Given the description of an element on the screen output the (x, y) to click on. 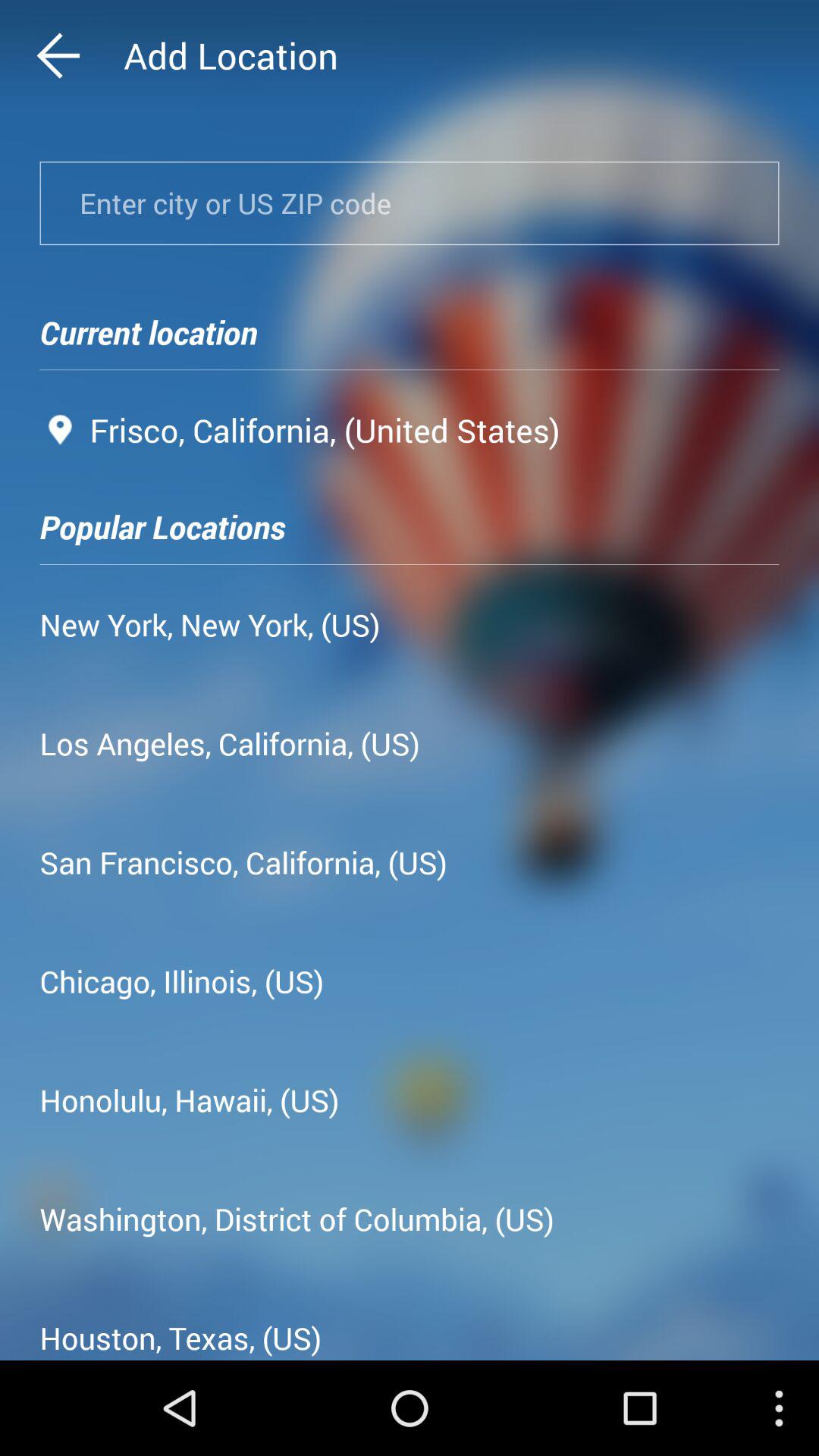
enter city or zip (409, 203)
